Given the description of an element on the screen output the (x, y) to click on. 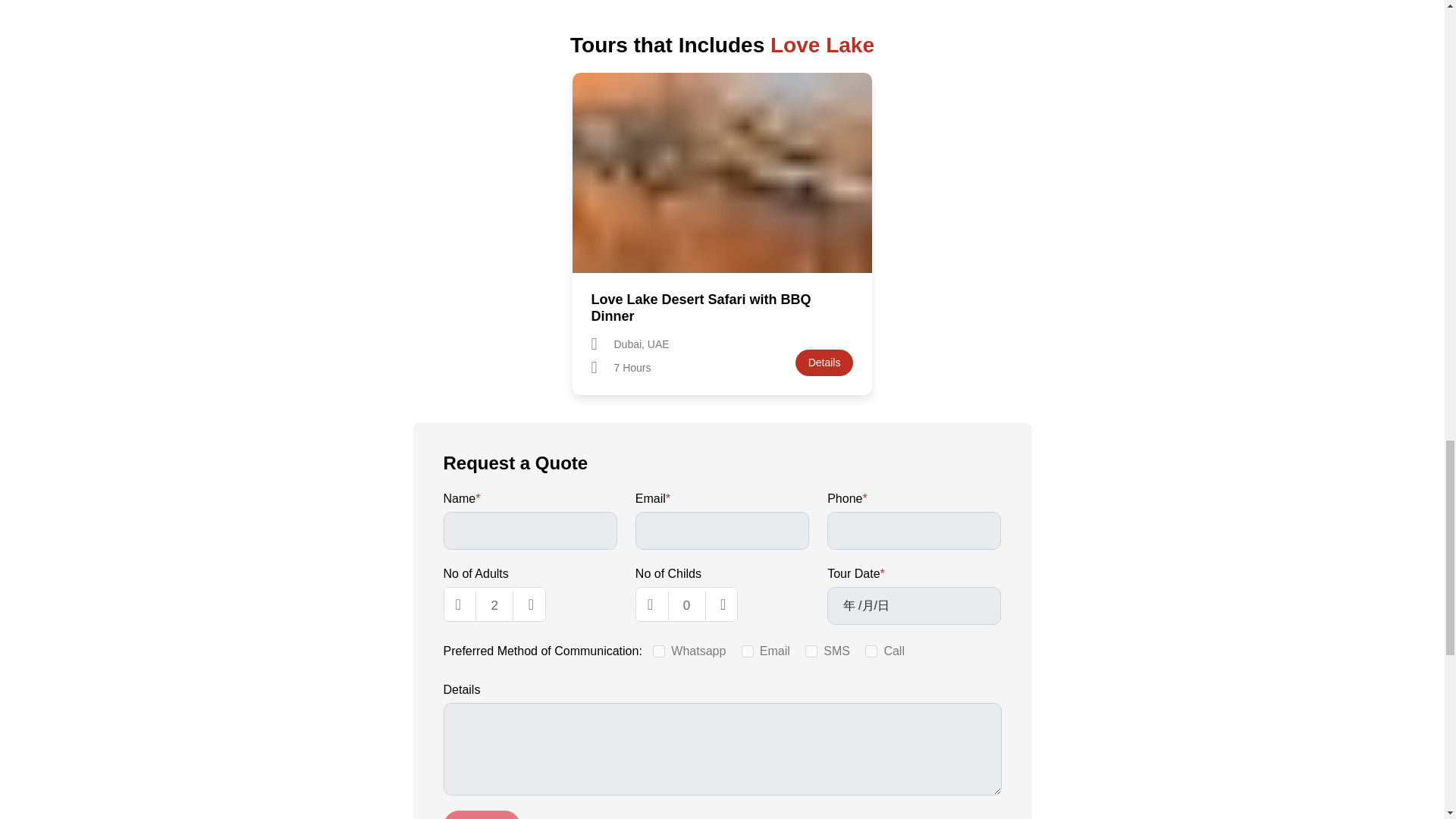
Email (747, 651)
2 (494, 605)
Submit (480, 814)
0 (687, 605)
SMS (810, 651)
Whatsapp (658, 651)
Call (870, 651)
